Given the description of an element on the screen output the (x, y) to click on. 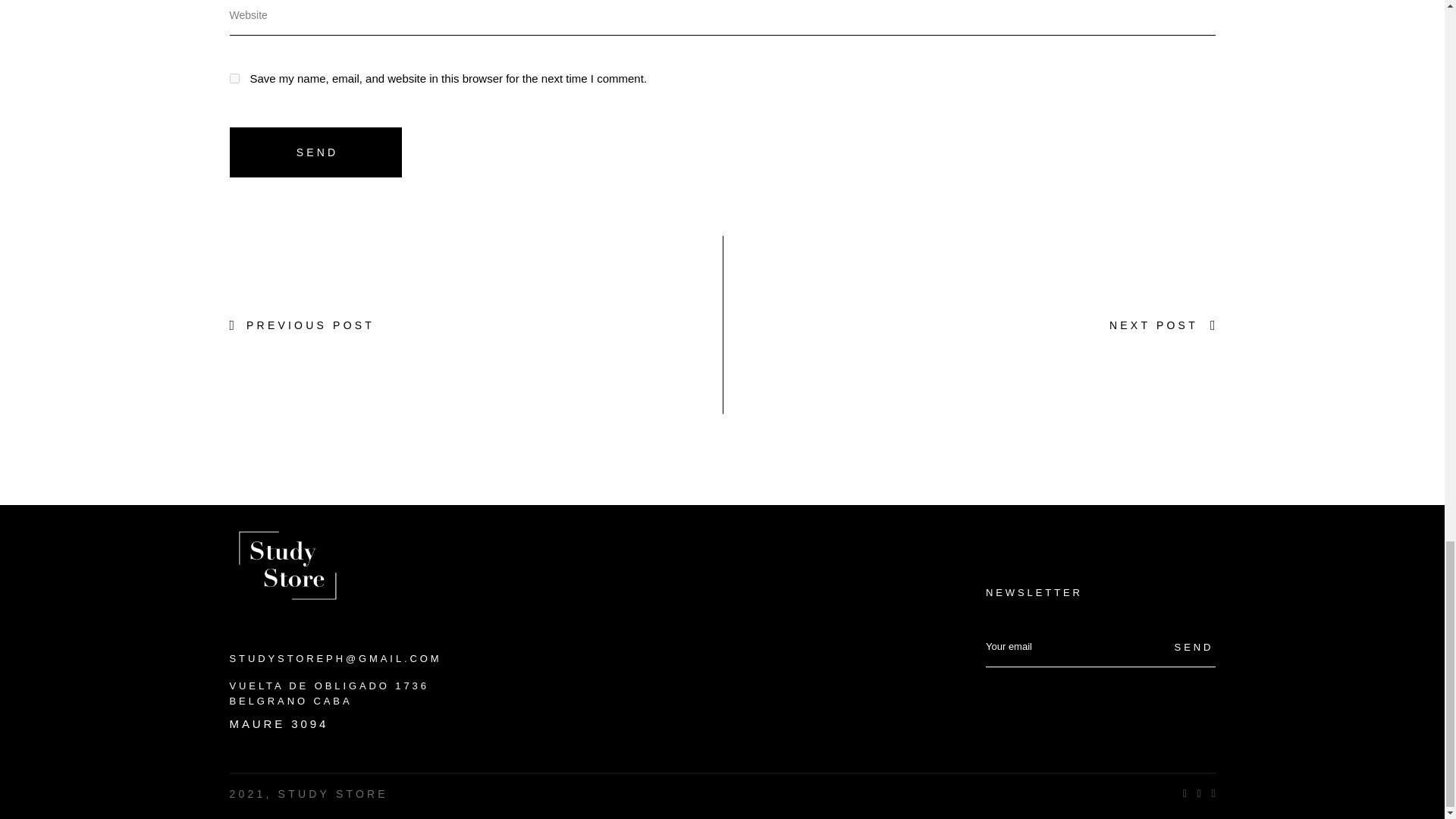
PREVIOUS POST (301, 324)
Study Store (285, 562)
yes (233, 78)
SEND (314, 152)
